Given the description of an element on the screen output the (x, y) to click on. 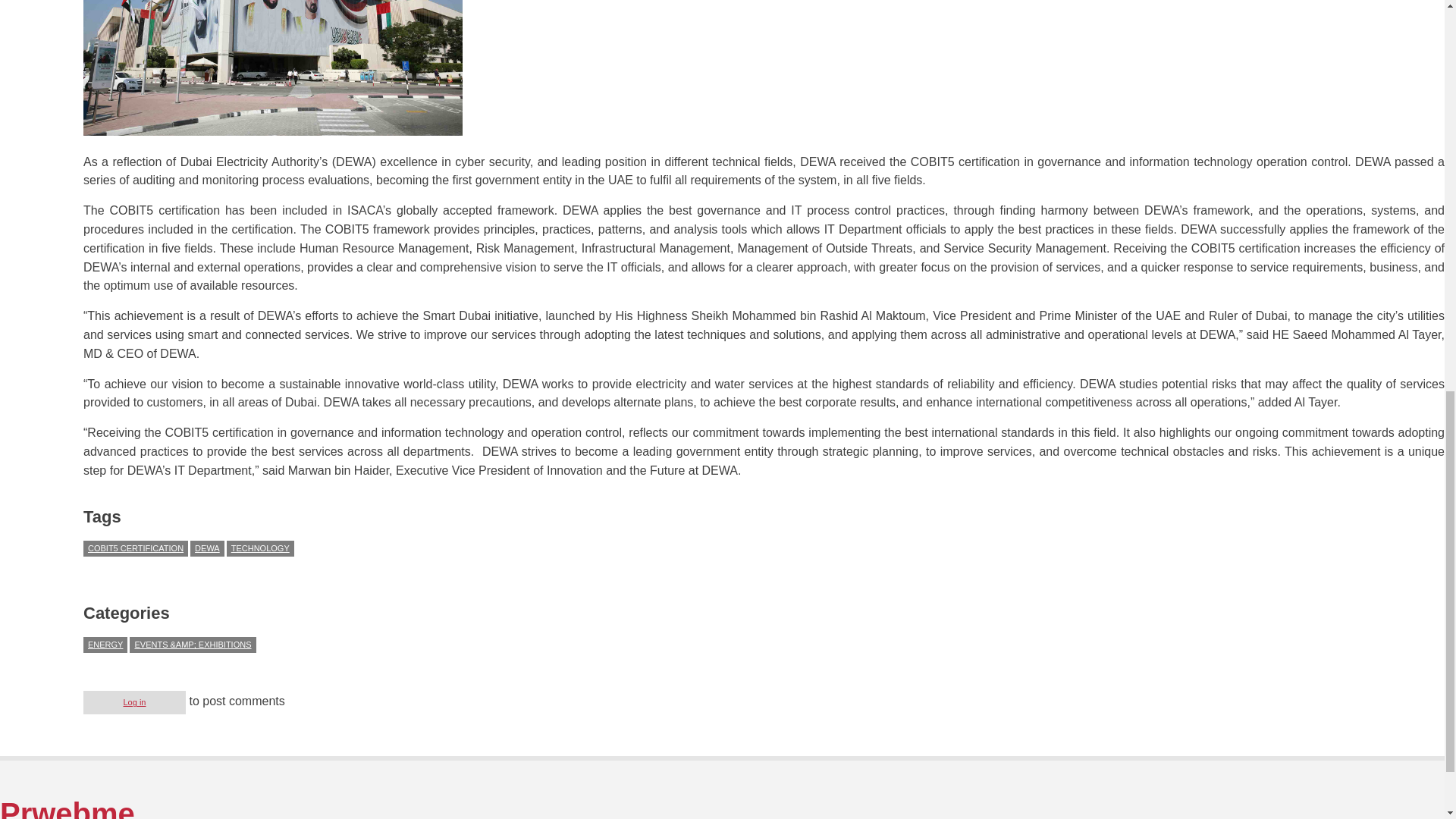
DEWA (207, 548)
Home (67, 807)
COBIT5 CERTIFICATION (134, 548)
